Given the description of an element on the screen output the (x, y) to click on. 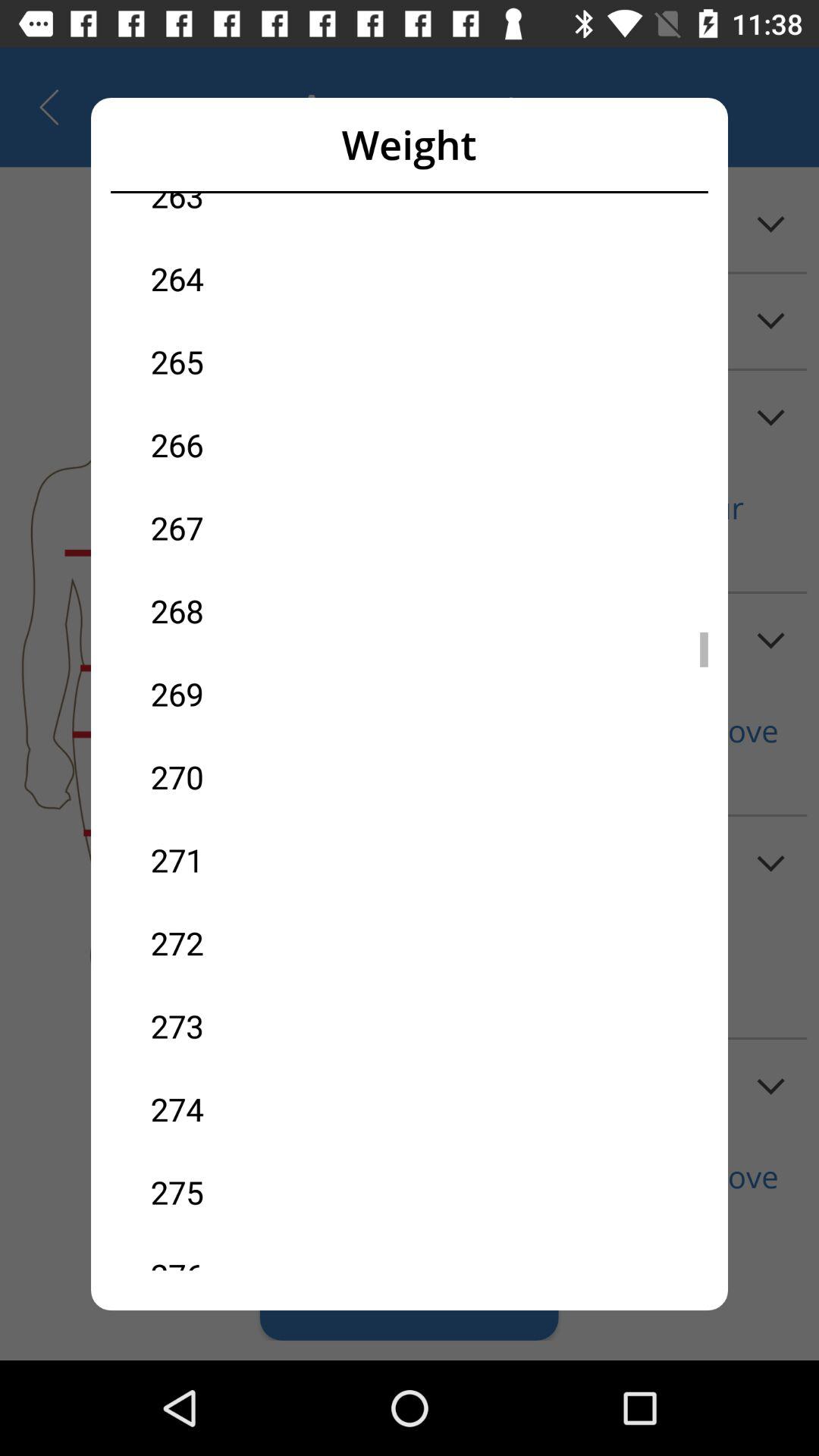
turn off 276 (279, 1251)
